Given the description of an element on the screen output the (x, y) to click on. 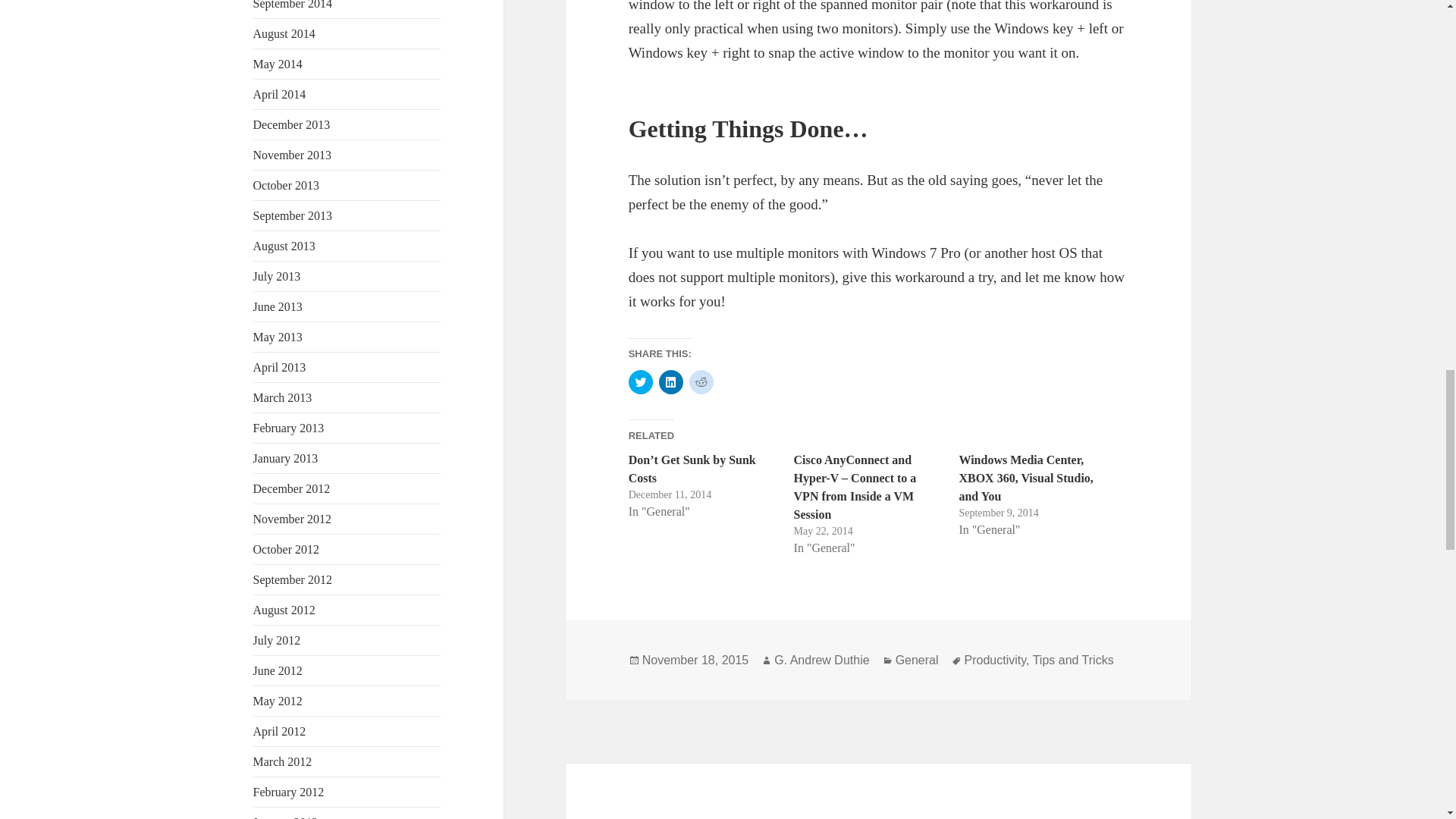
Click to share on Reddit (700, 548)
August 2014 (284, 33)
September 2014 (292, 4)
Click to share on Twitter (640, 548)
Click to share on LinkedIn (670, 548)
